Given the description of an element on the screen output the (x, y) to click on. 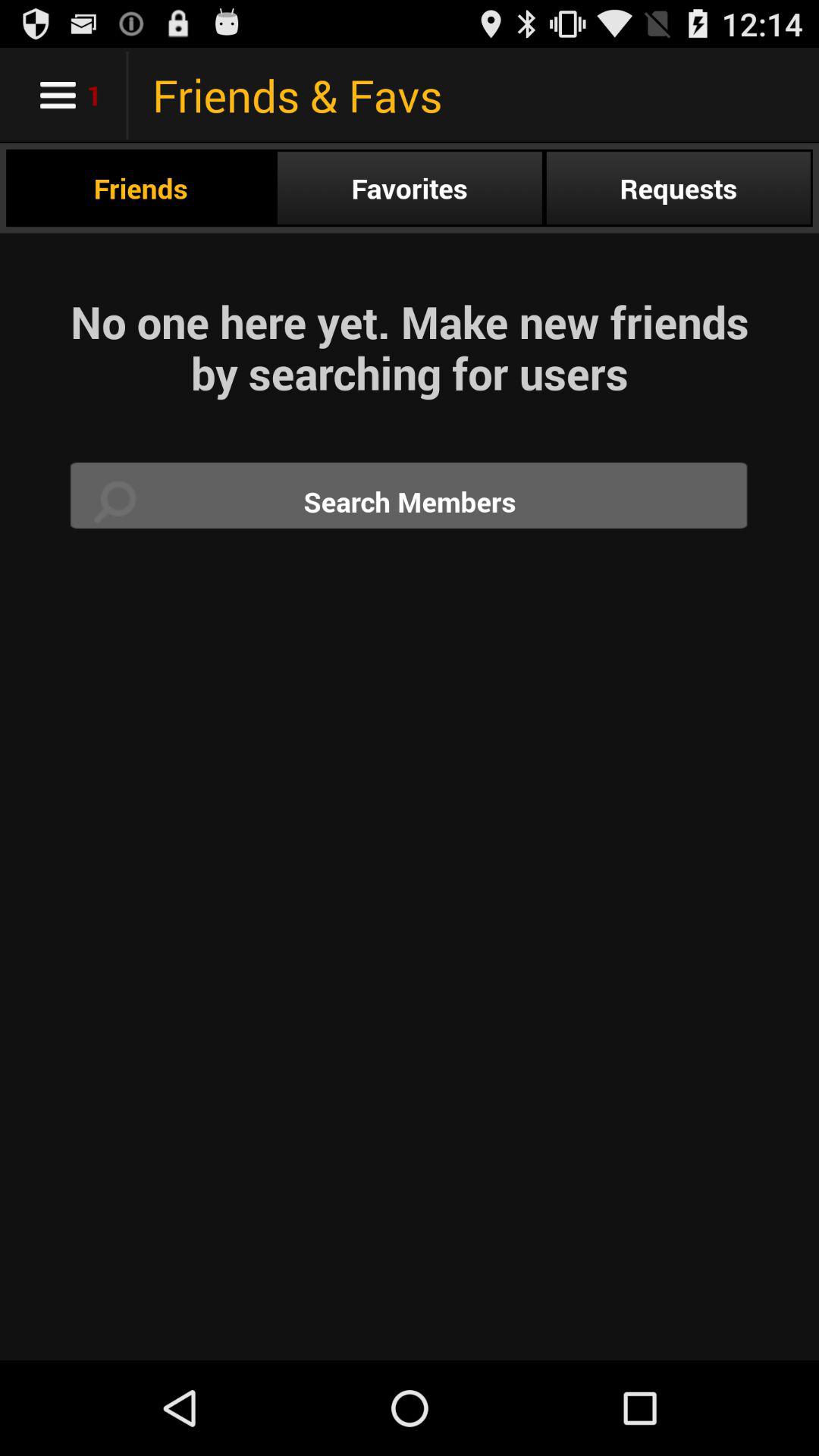
search members (409, 501)
